Given the description of an element on the screen output the (x, y) to click on. 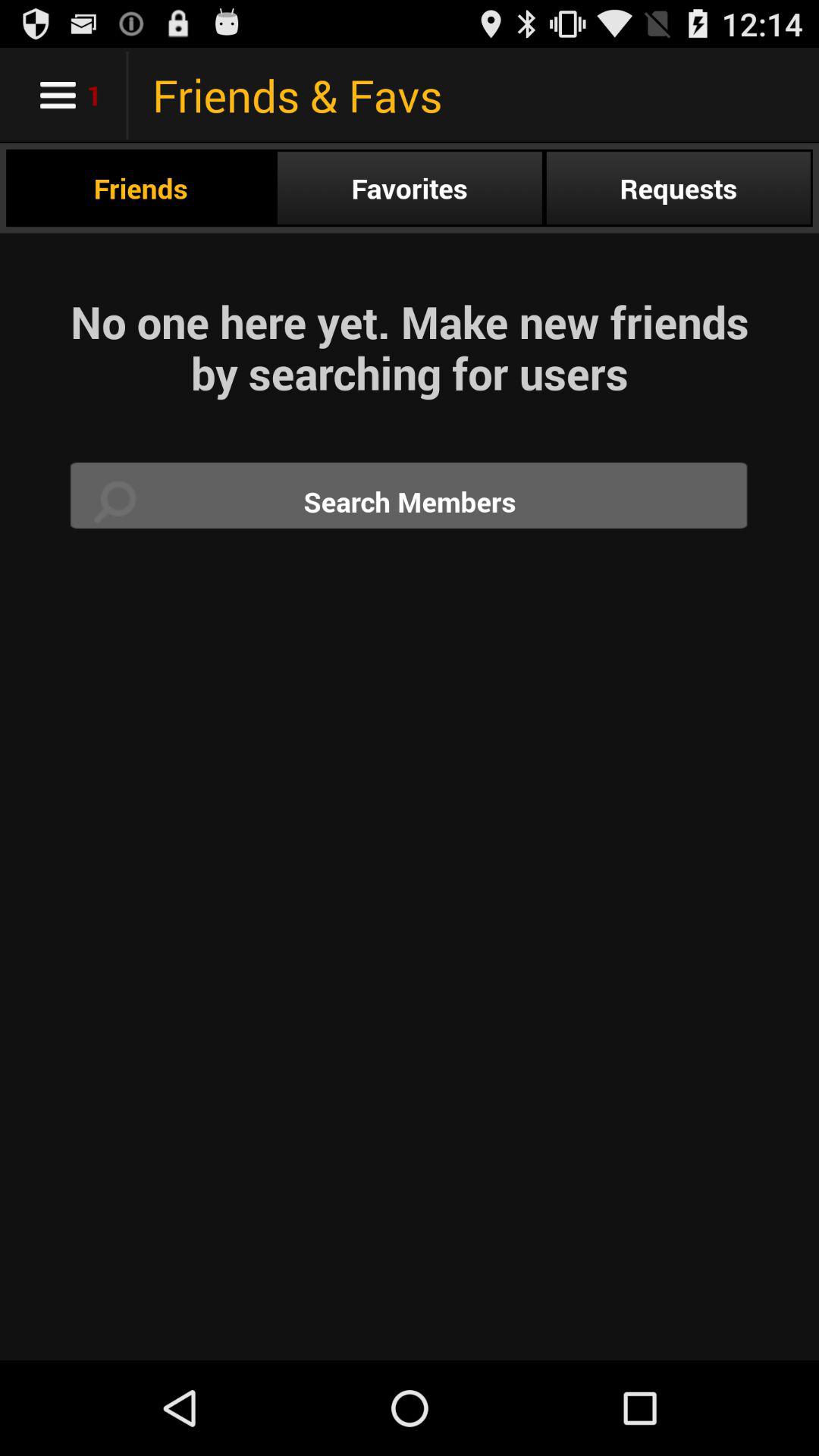
search members (409, 501)
